Given the description of an element on the screen output the (x, y) to click on. 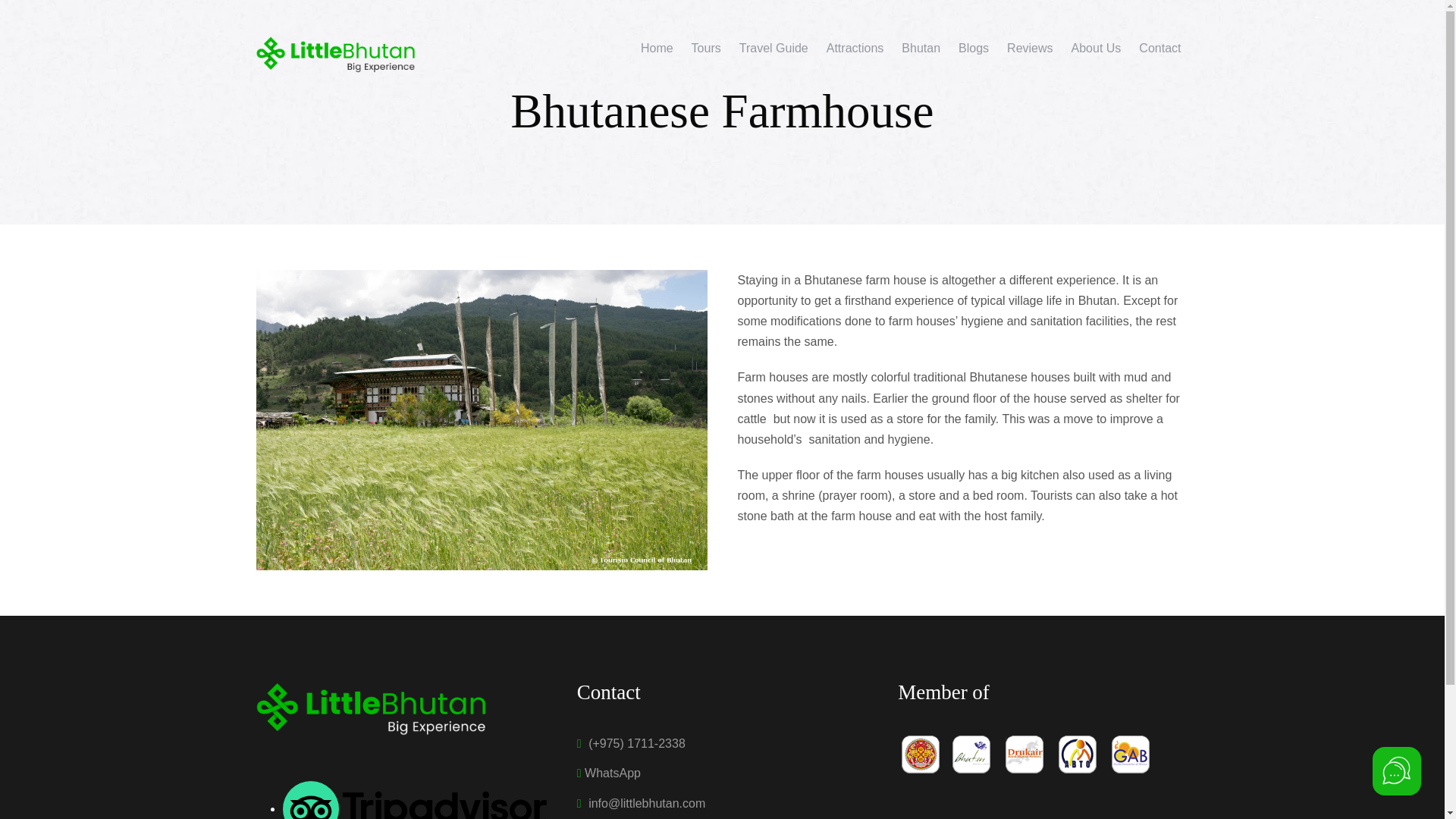
Home (656, 55)
Little Bhutan Logo Black Text (335, 53)
